Given the description of an element on the screen output the (x, y) to click on. 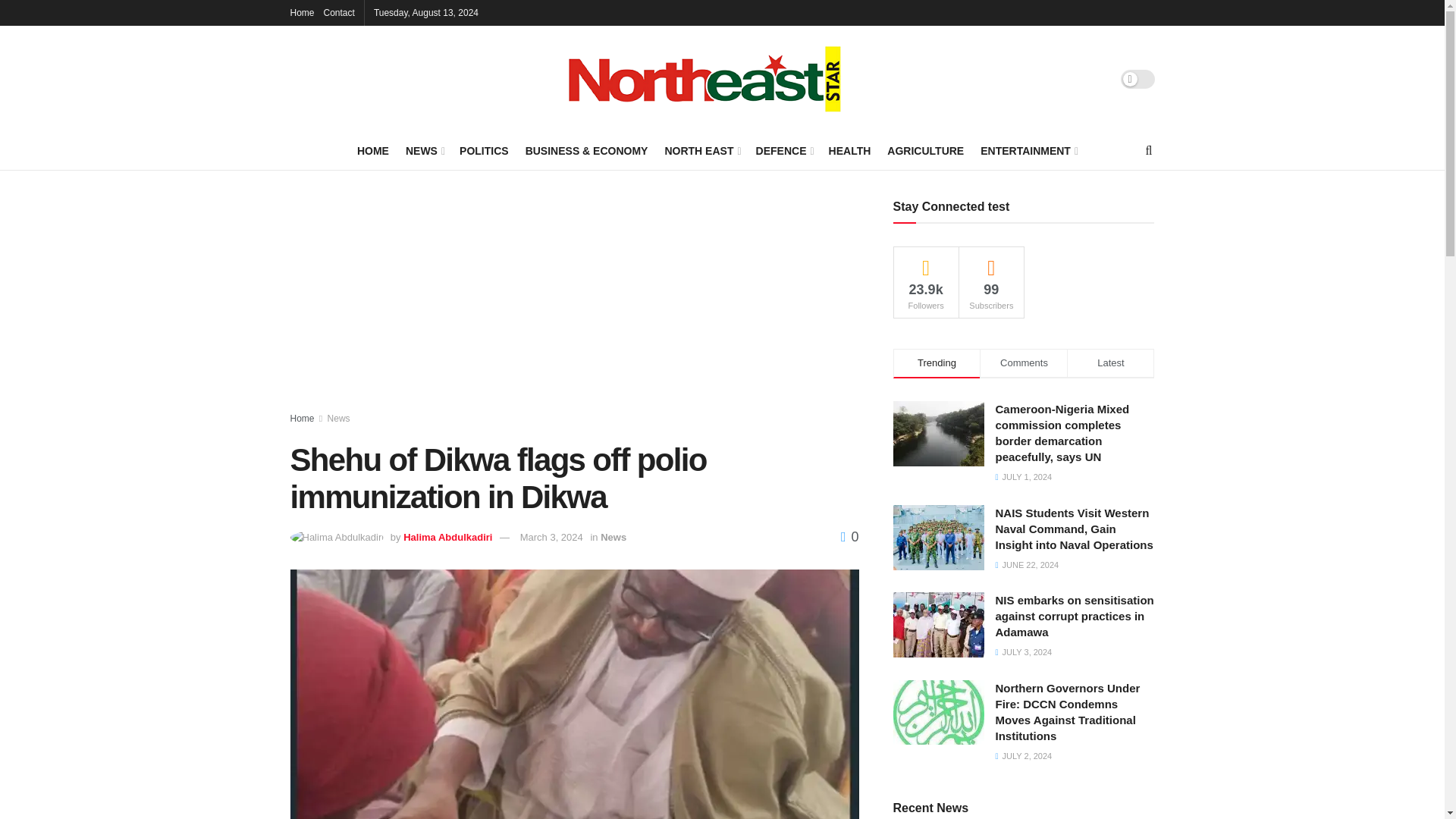
NORTH EAST (700, 150)
HOME (372, 150)
POLITICS (484, 150)
Home (301, 12)
Advertisement (574, 305)
Contact (339, 12)
NEWS (424, 150)
